Given the description of an element on the screen output the (x, y) to click on. 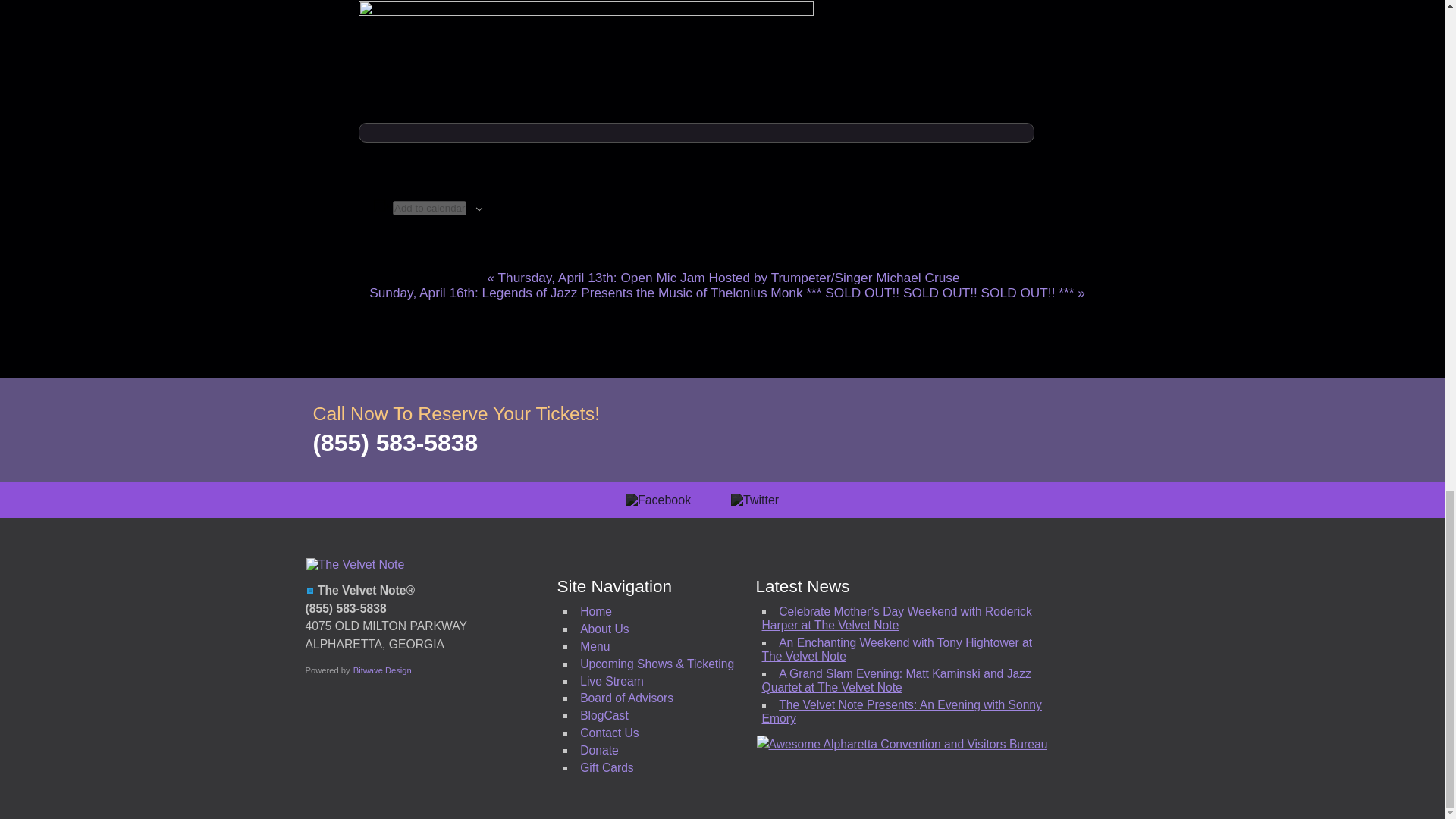
Awesome Alpharetta Convention and Visitors Bureau (902, 744)
Home (595, 611)
Menu (594, 645)
About Us (603, 628)
Bitwave Design (382, 669)
Add to calendar (429, 207)
Live Stream (611, 680)
